Given the description of an element on the screen output the (x, y) to click on. 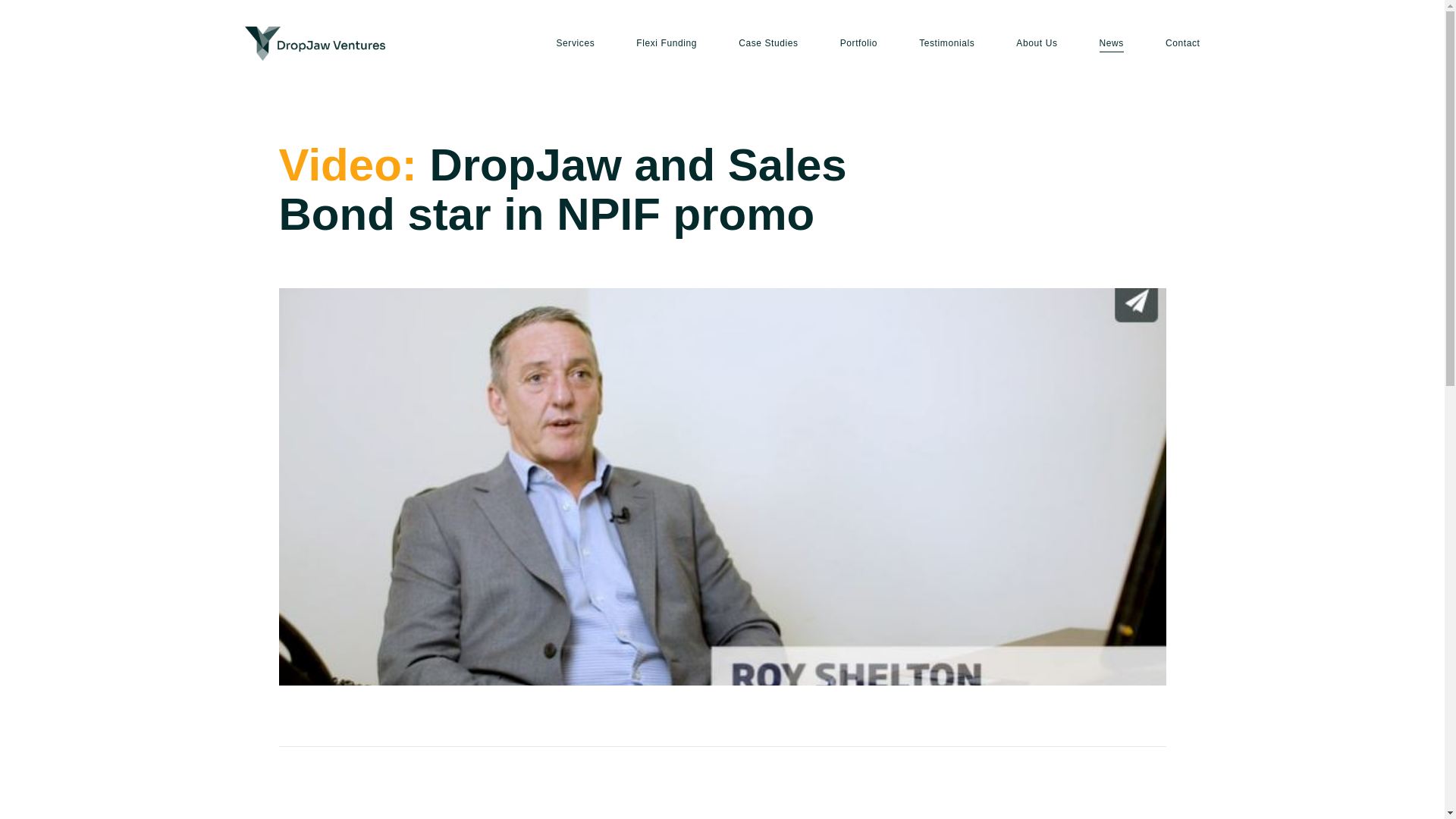
Case Studies (767, 42)
Portfolio (858, 42)
About Us (1036, 42)
Contact (1182, 42)
News (1111, 42)
Services (575, 42)
Flexi Funding (666, 42)
Testimonials (946, 42)
